Given the description of an element on the screen output the (x, y) to click on. 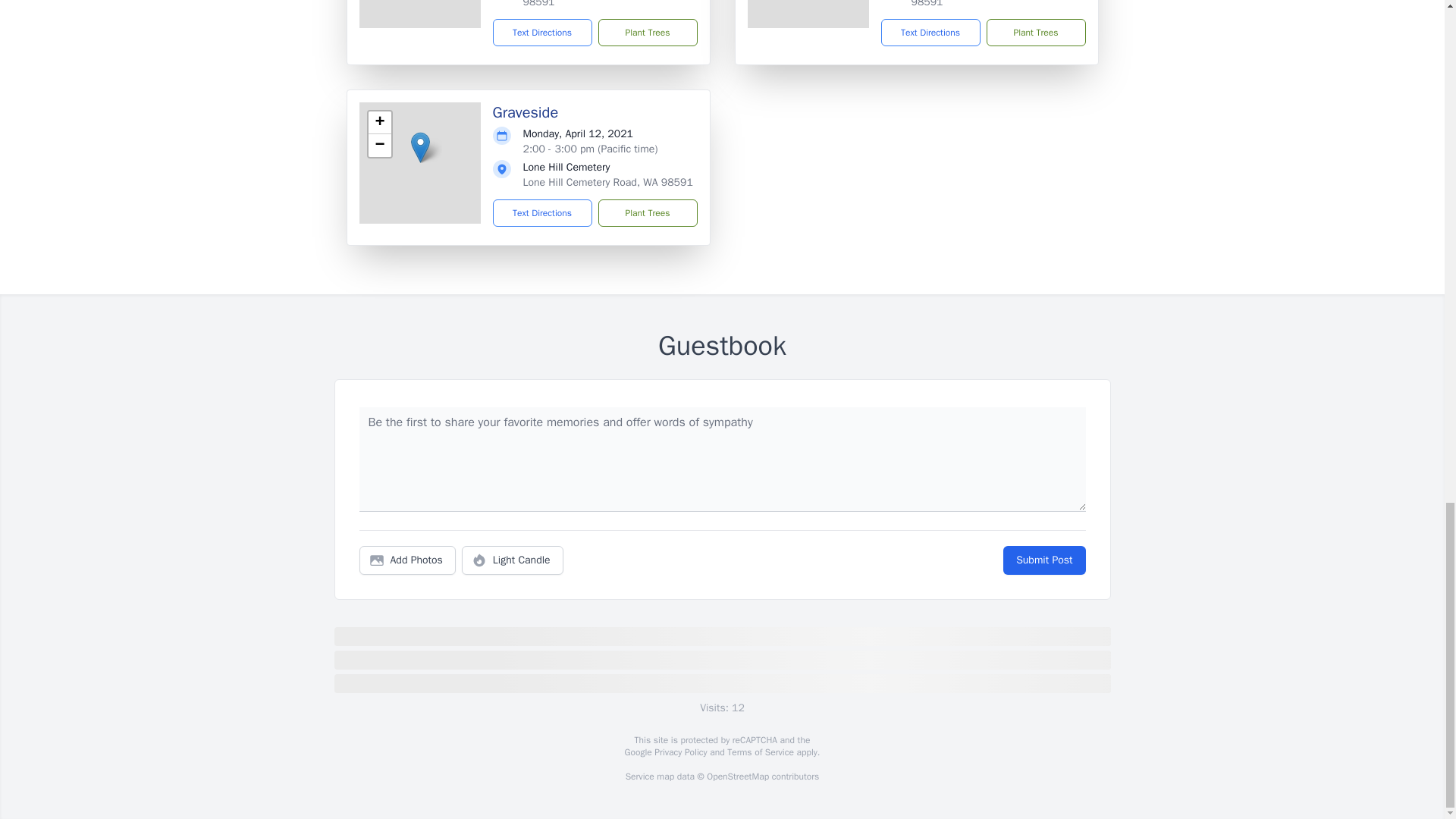
351 North 5th Street, Toledo, WA 98591 (600, 4)
Text Directions (929, 31)
Plant Trees (1034, 31)
351 North 5th Street, Toledo, WA 98591 (989, 4)
Plant Trees (646, 31)
Zoom out (379, 145)
Zoom in (379, 122)
Text Directions (542, 212)
Lone Hill Cemetery Road, WA 98591 (607, 182)
Plant Trees (646, 212)
Text Directions (542, 31)
